Given the description of an element on the screen output the (x, y) to click on. 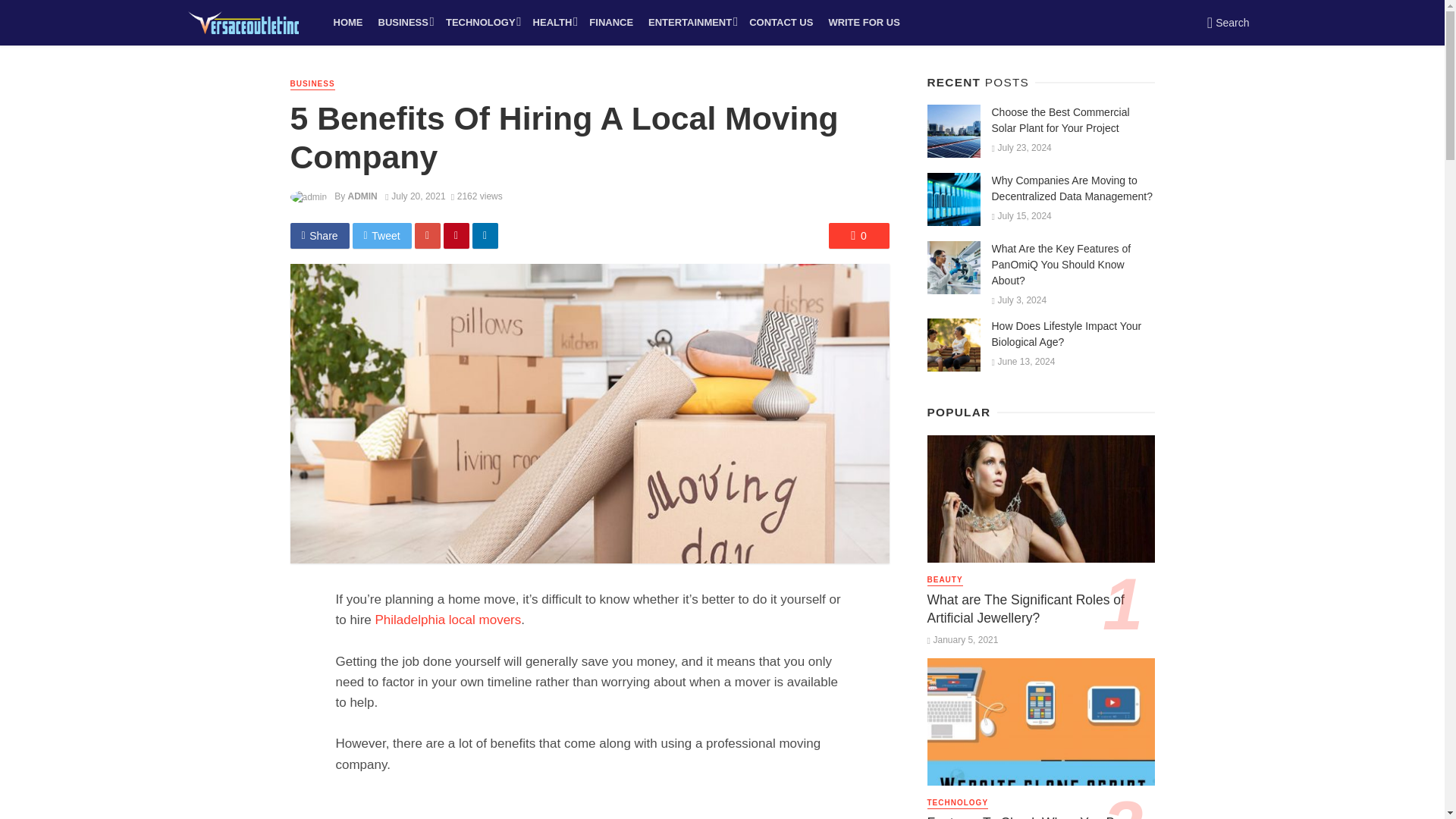
0 (858, 235)
TECHNOLOGY (481, 22)
Tweet (382, 235)
ADMIN (362, 195)
ENTERTAINMENT (690, 22)
Share on Linkedin (484, 235)
HEALTH (553, 22)
Share (319, 235)
July 20, 2021 at 4:48 am (415, 195)
BUSINESS (404, 22)
